Given the description of an element on the screen output the (x, y) to click on. 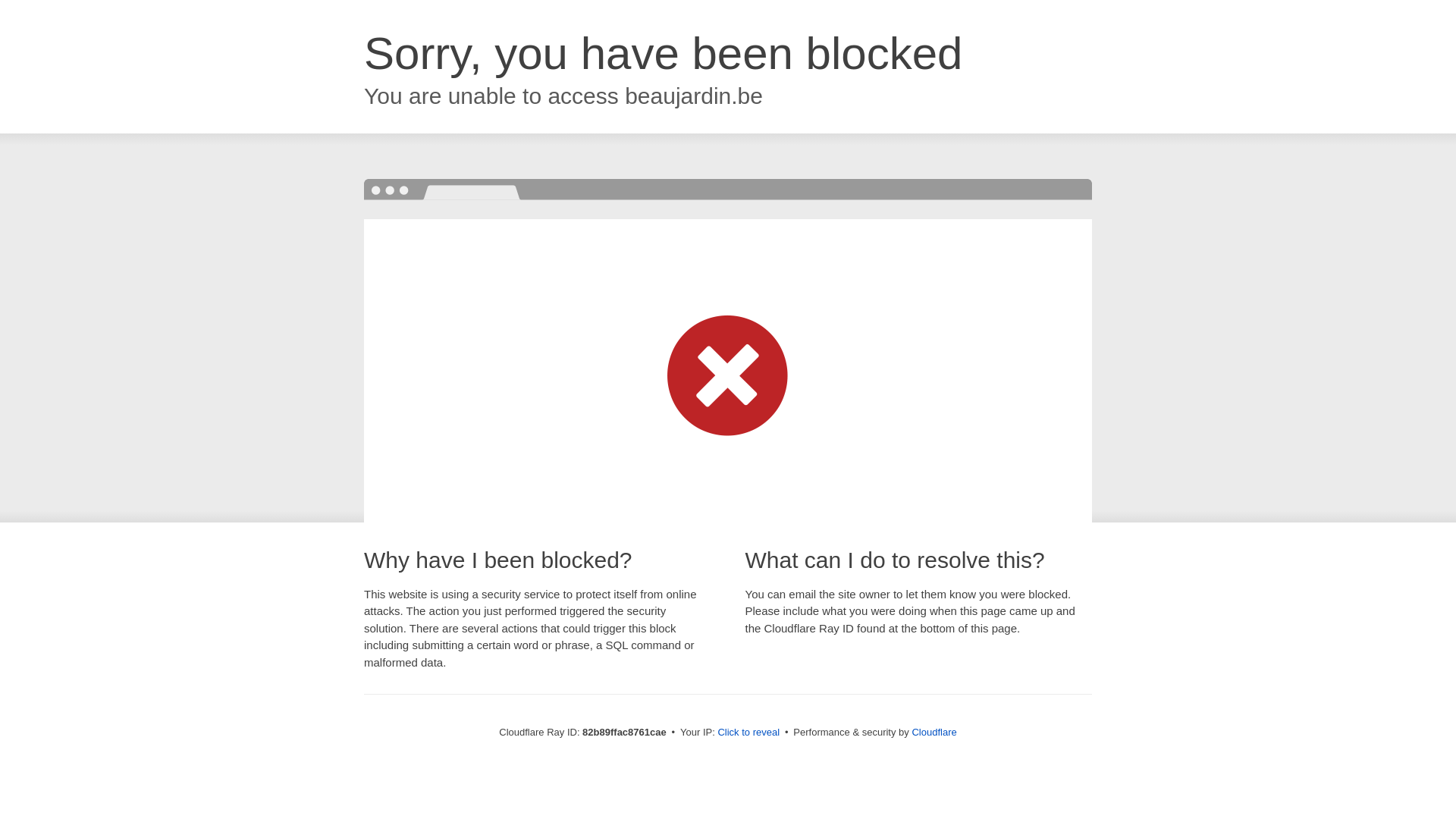
Click to reveal Element type: text (748, 732)
Cloudflare Element type: text (933, 731)
